Given the description of an element on the screen output the (x, y) to click on. 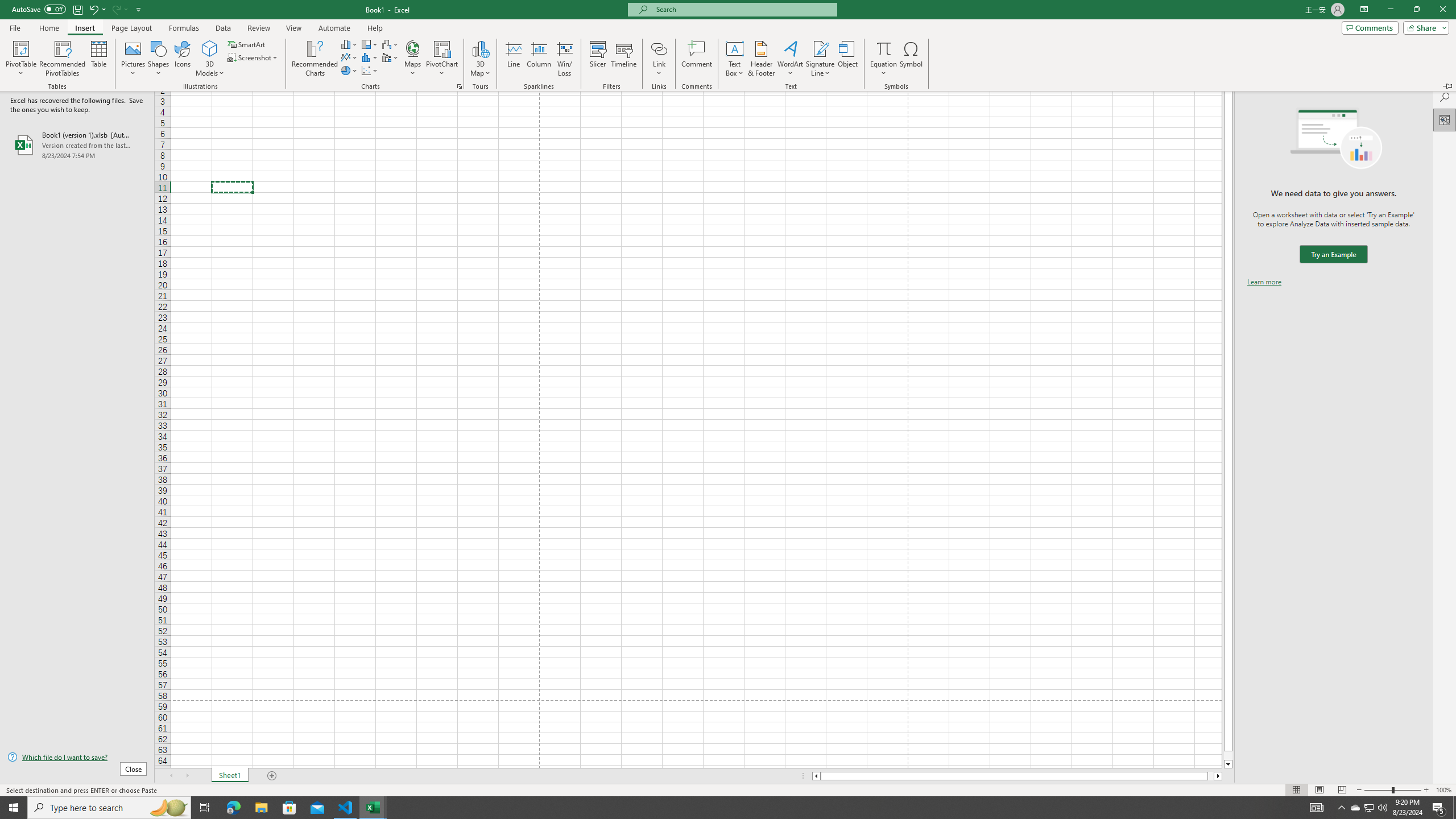
File Explorer (261, 807)
Automate (334, 28)
Column left (815, 775)
Formulas (184, 28)
Zoom Out (1377, 790)
Notification Chevron (1341, 807)
Microsoft Edge (233, 807)
Page right (1355, 807)
Share (1211, 775)
Zoom (1423, 27)
Add Sheet (1392, 790)
